Given the description of an element on the screen output the (x, y) to click on. 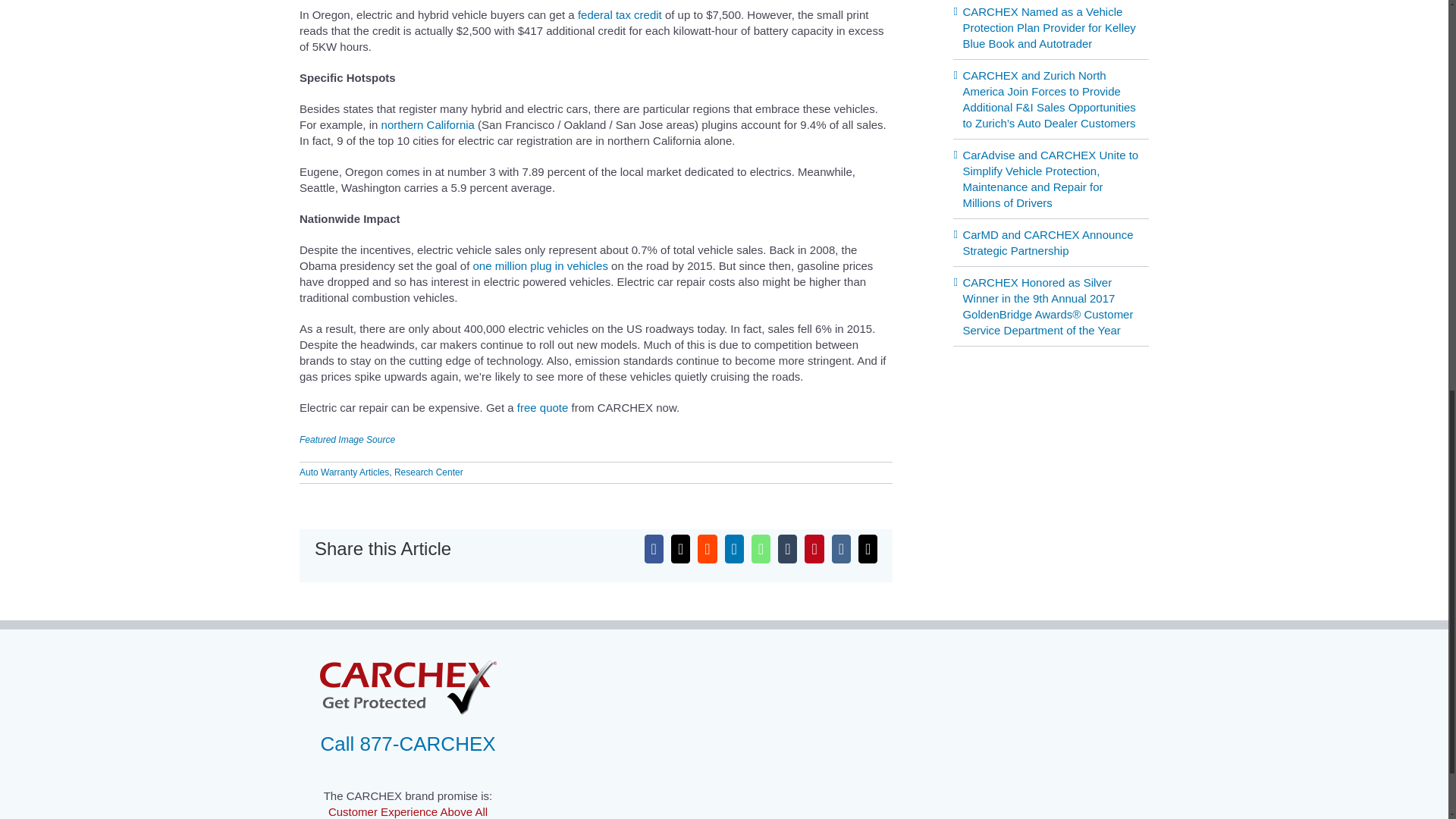
Auto Warranty Articles (343, 471)
northern California (427, 124)
one million plug in vehicles (539, 265)
federal tax credit (620, 14)
free quote (542, 407)
Featured Image Source (346, 439)
Research Center (428, 471)
